Given the description of an element on the screen output the (x, y) to click on. 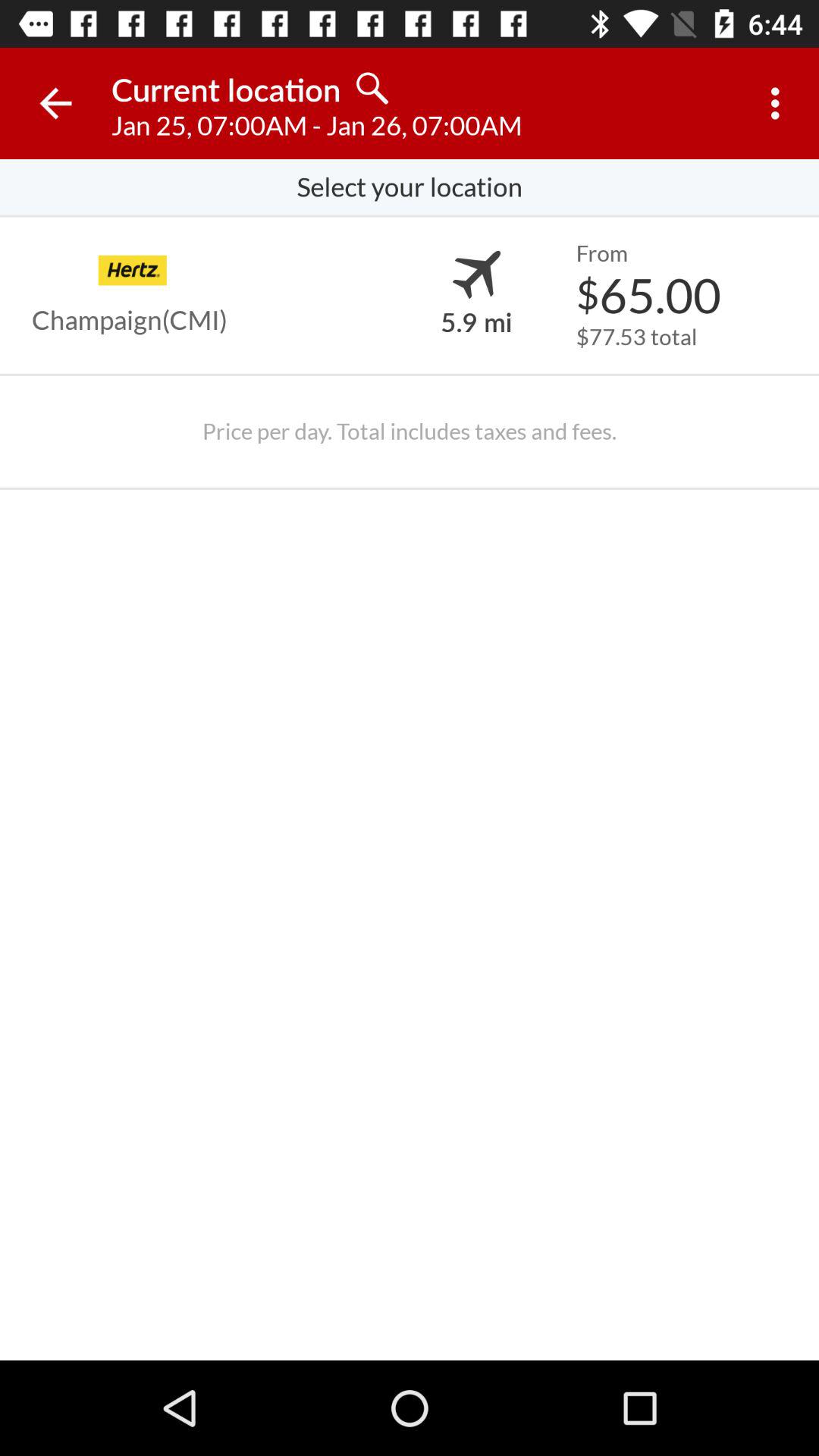
click $65.00 item (648, 294)
